Given the description of an element on the screen output the (x, y) to click on. 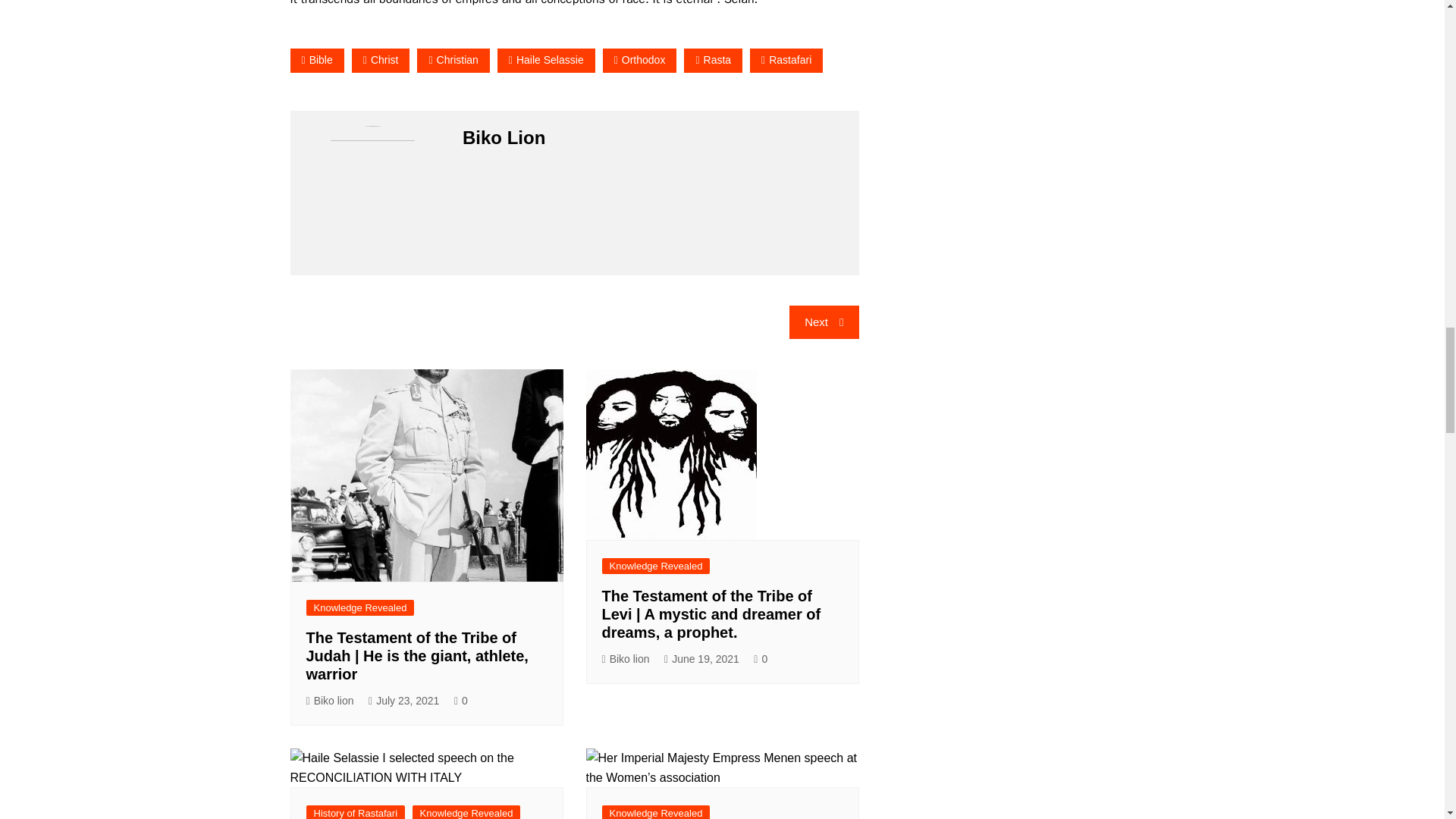
Christian (452, 60)
Haile Selassie (546, 60)
Orthodox (639, 60)
Rasta (713, 60)
Bible (316, 60)
Christ (381, 60)
